Given the description of an element on the screen output the (x, y) to click on. 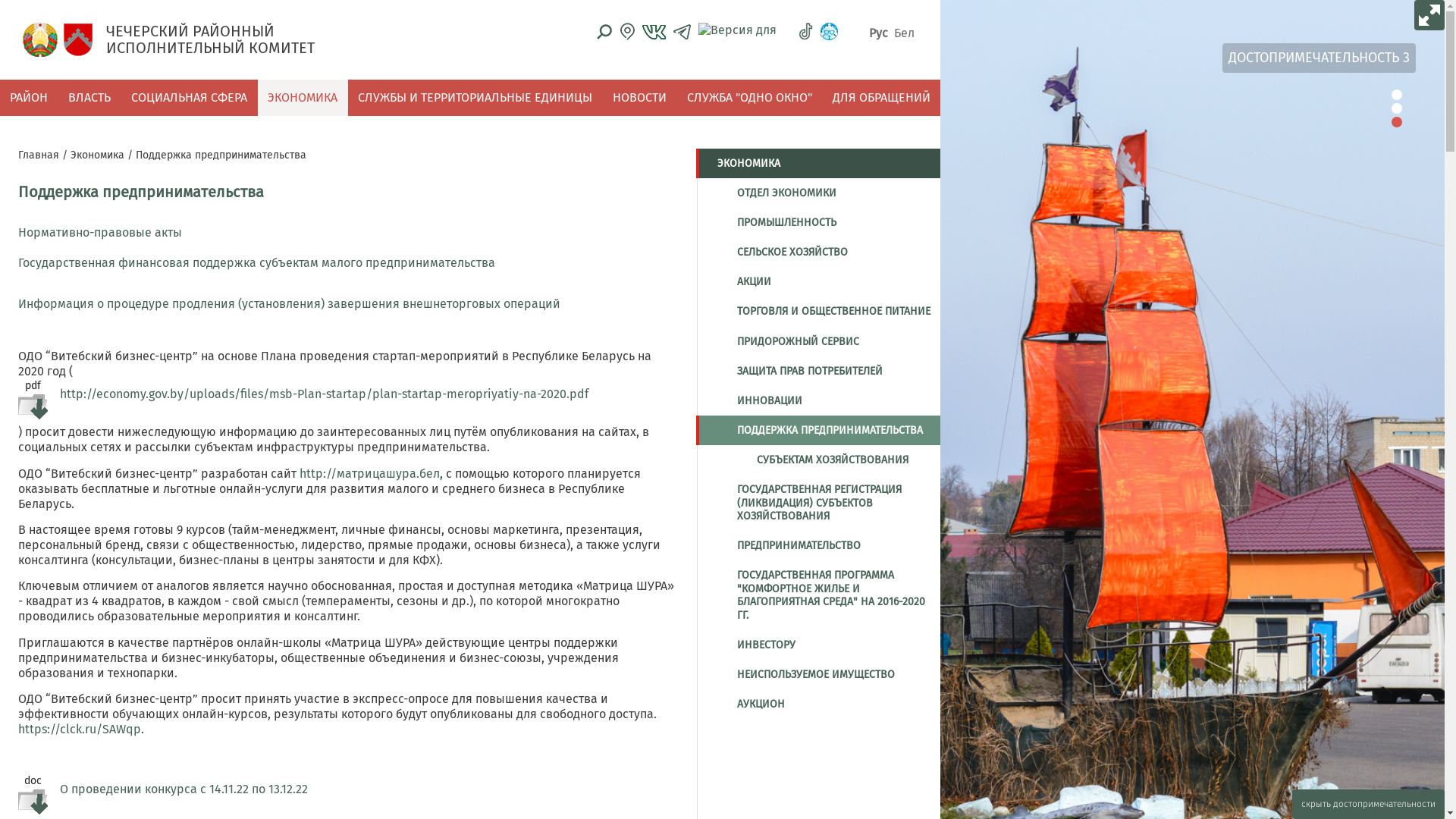
telegram Element type: hover (681, 31)
2 Element type: text (1396, 108)
Tiktok Element type: hover (805, 31)
https://clck.ru/SAWqp Element type: text (79, 728)
VK Element type: hover (653, 32)
3 Element type: text (1396, 121)
telegram Element type: hover (681, 31)
VK Element type: hover (653, 30)
1 Element type: text (1396, 94)
